Given the description of an element on the screen output the (x, y) to click on. 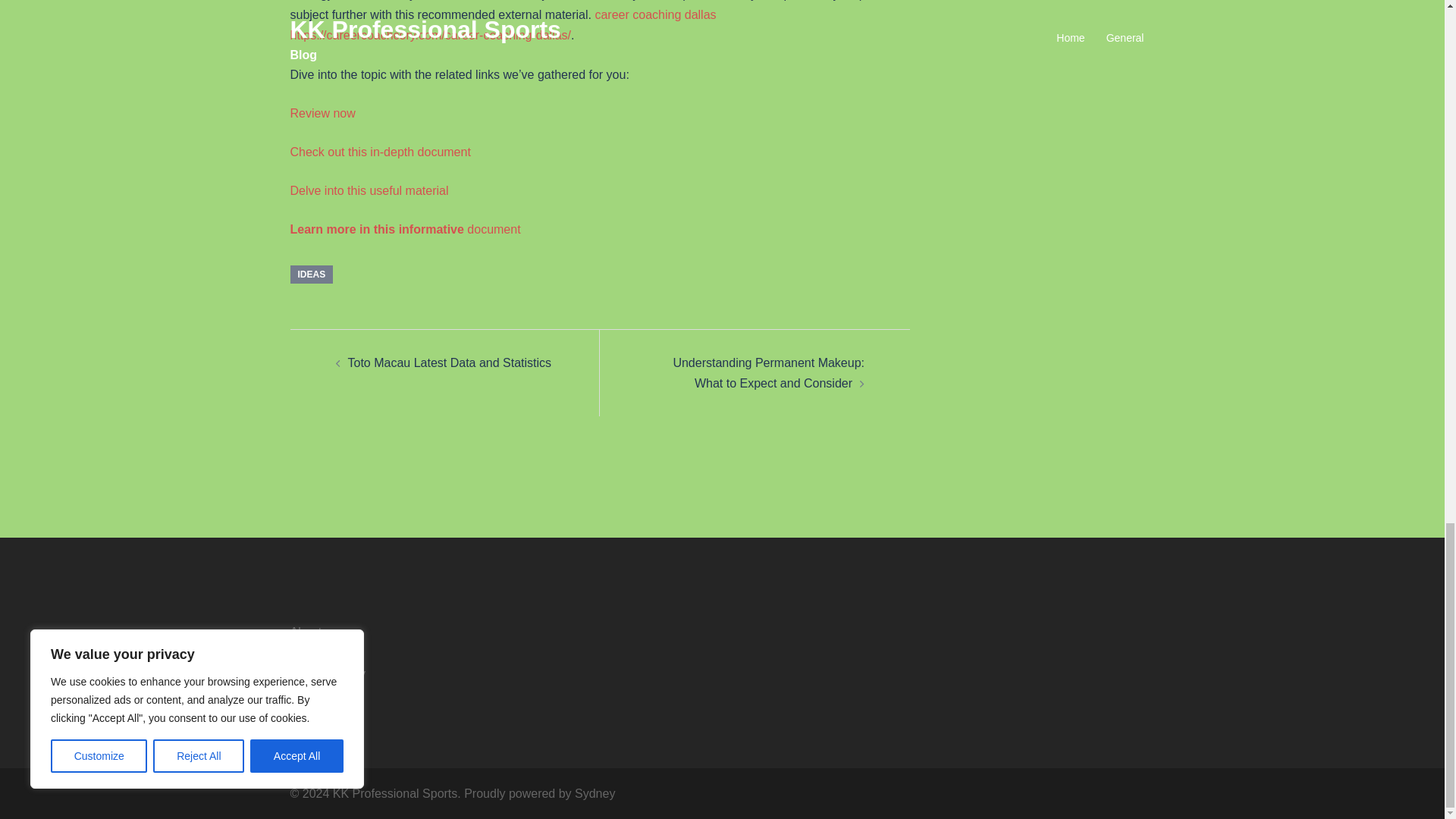
Toto Macau Latest Data and Statistics (449, 362)
Learn more in this informative document (404, 228)
Check out this in-depth document (379, 151)
Review now (322, 113)
Understanding Permanent Makeup: What to Expect and Consider (768, 372)
IDEAS (311, 274)
Delve into this useful material (368, 190)
